Given the description of an element on the screen output the (x, y) to click on. 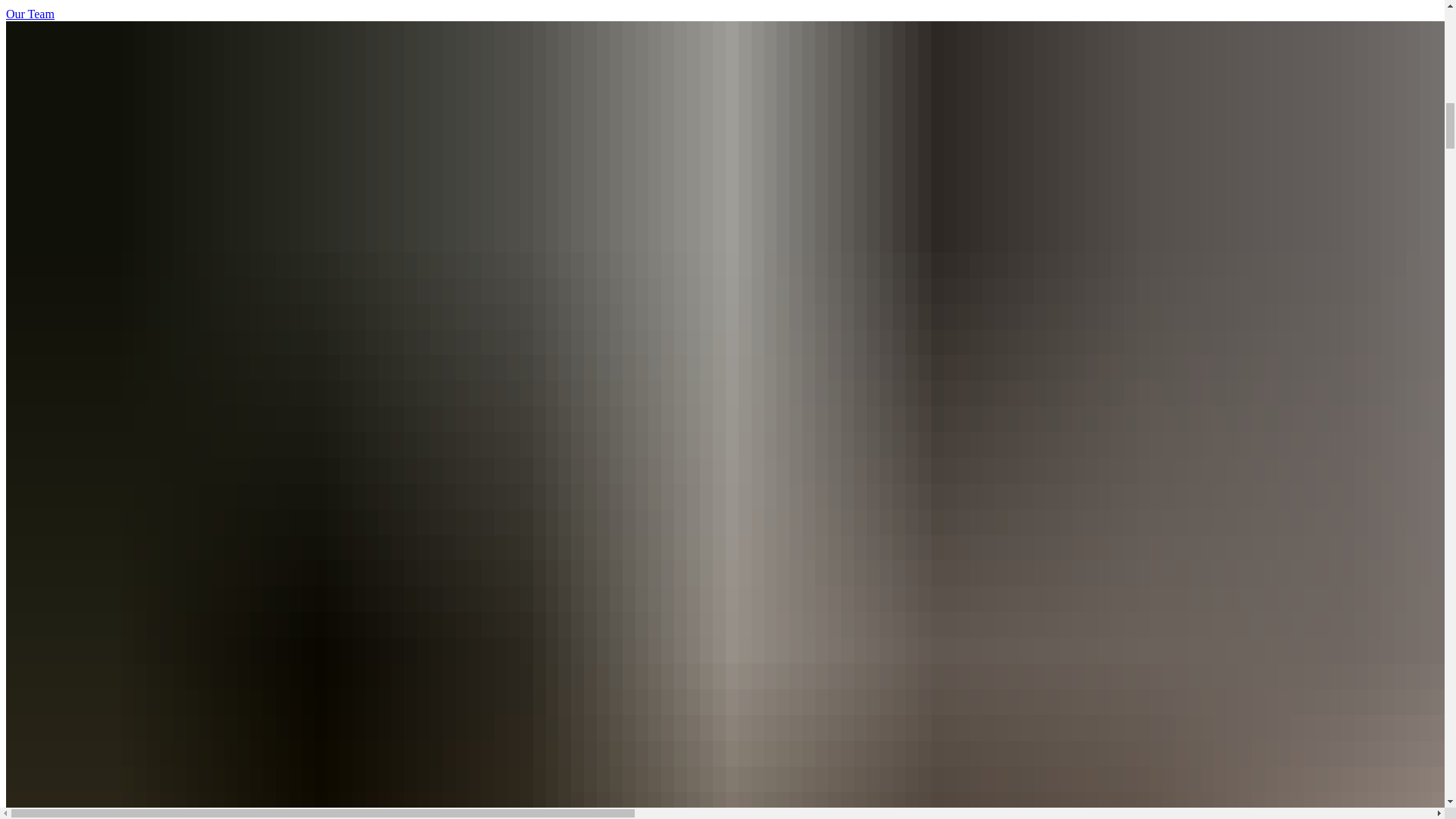
Our Team (30, 13)
